Given the description of an element on the screen output the (x, y) to click on. 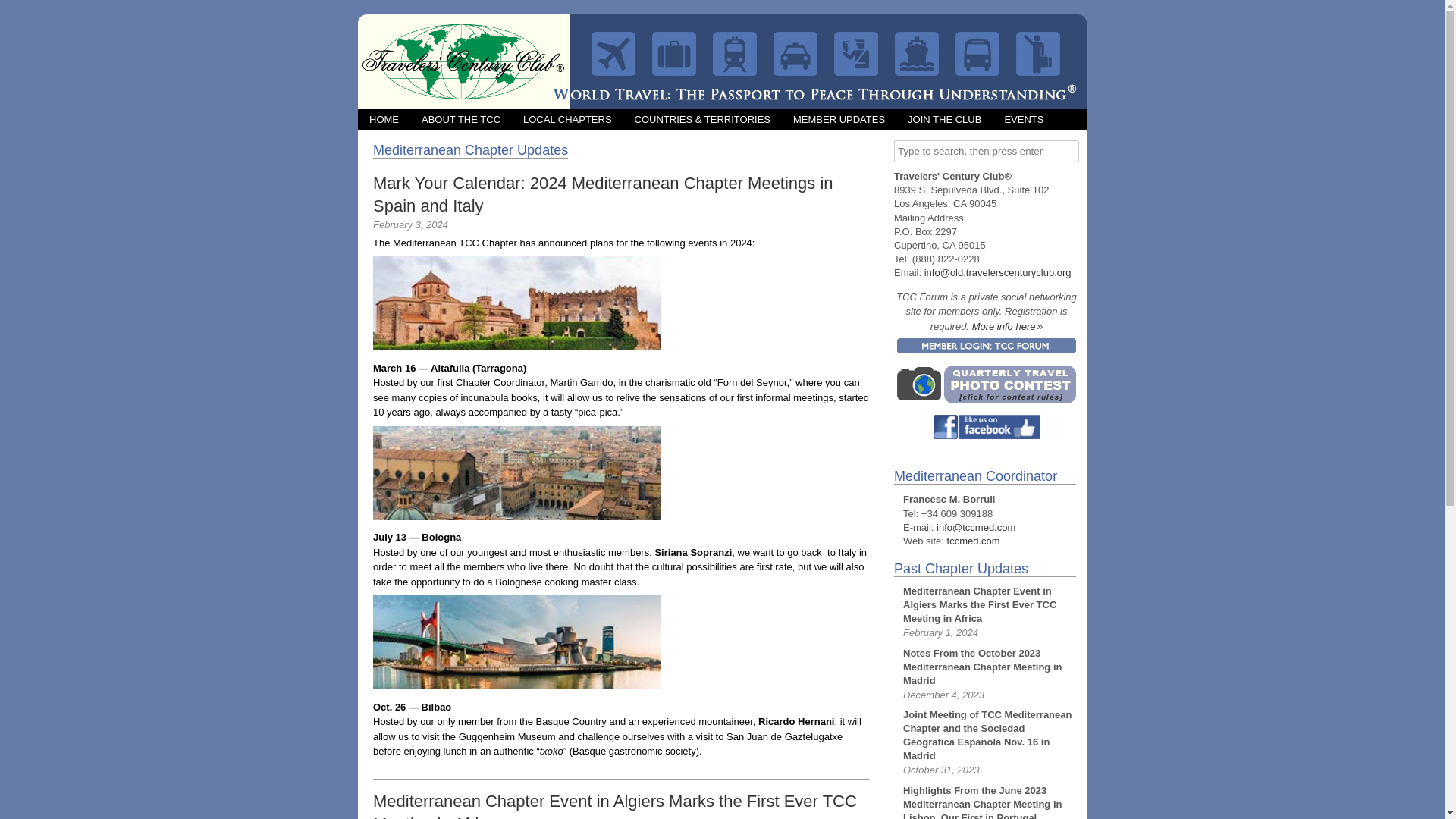
JOIN THE CLUB (944, 118)
LOCAL CHAPTERS (567, 118)
tccmed.com (973, 541)
Type to search, then press enter (985, 151)
HOME (384, 118)
EVENTS (1023, 118)
Search (23, 10)
